Given the description of an element on the screen output the (x, y) to click on. 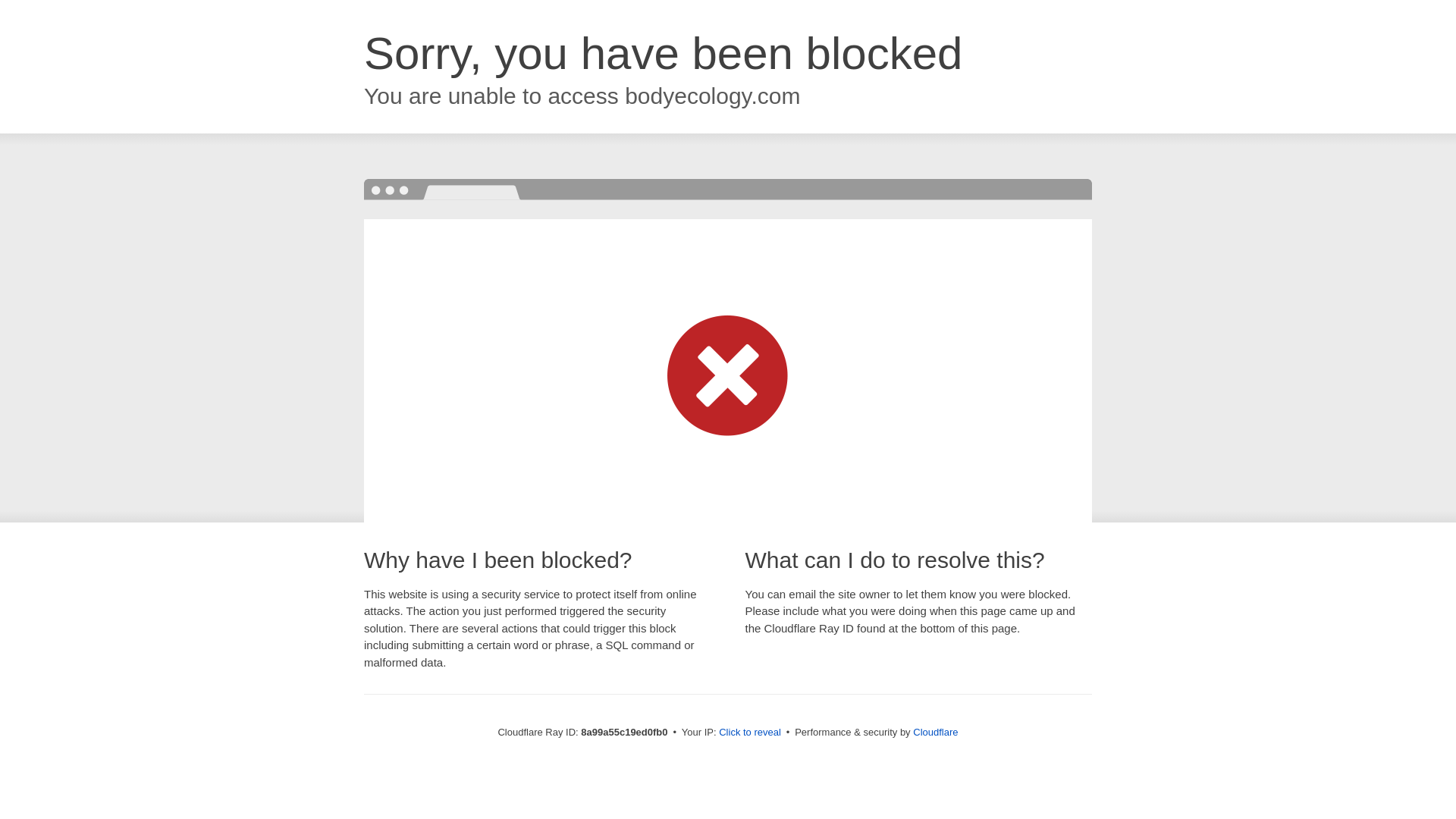
Click to reveal (749, 732)
Cloudflare (935, 731)
